Given the description of an element on the screen output the (x, y) to click on. 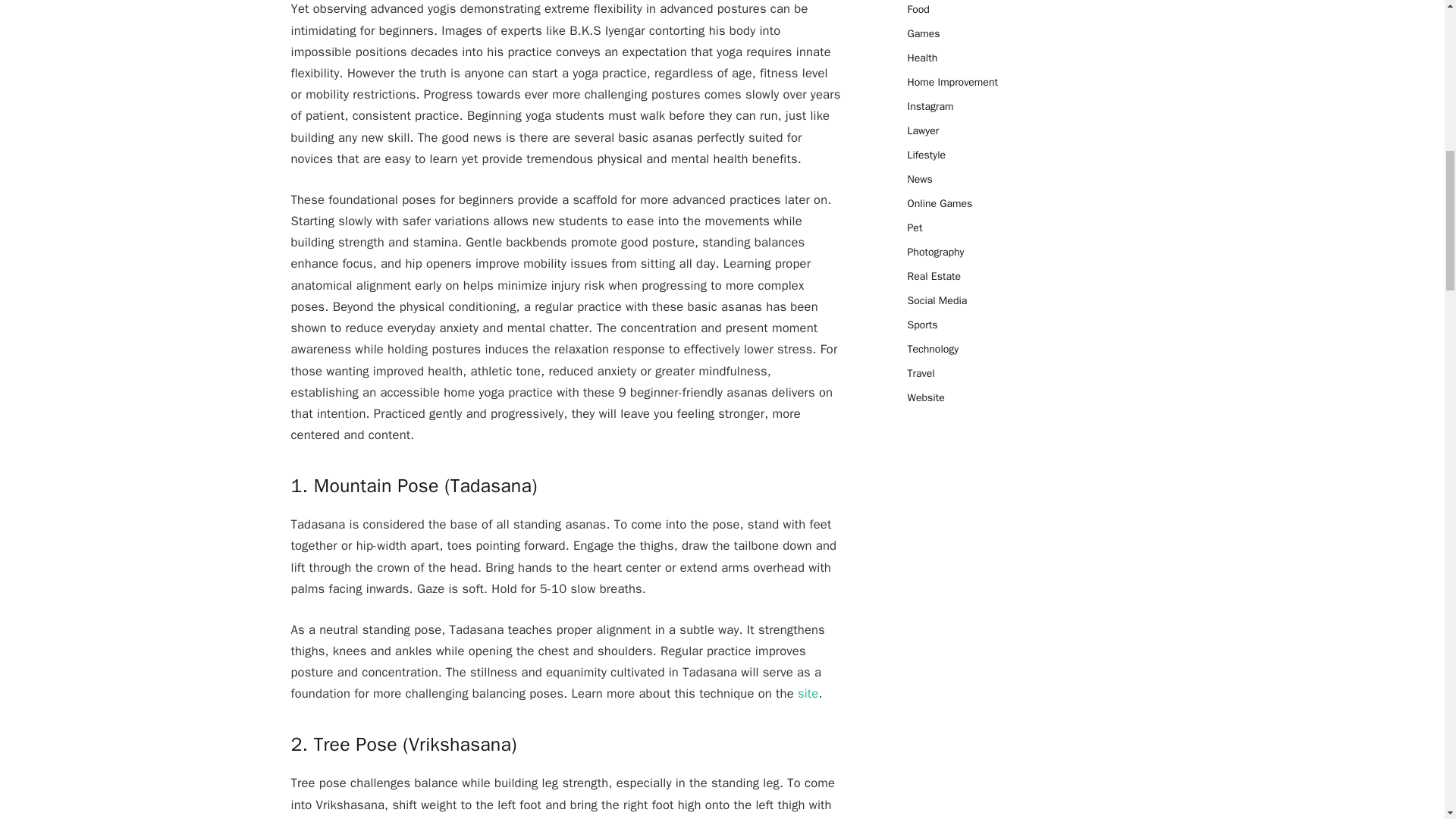
site (807, 693)
